Given the description of an element on the screen output the (x, y) to click on. 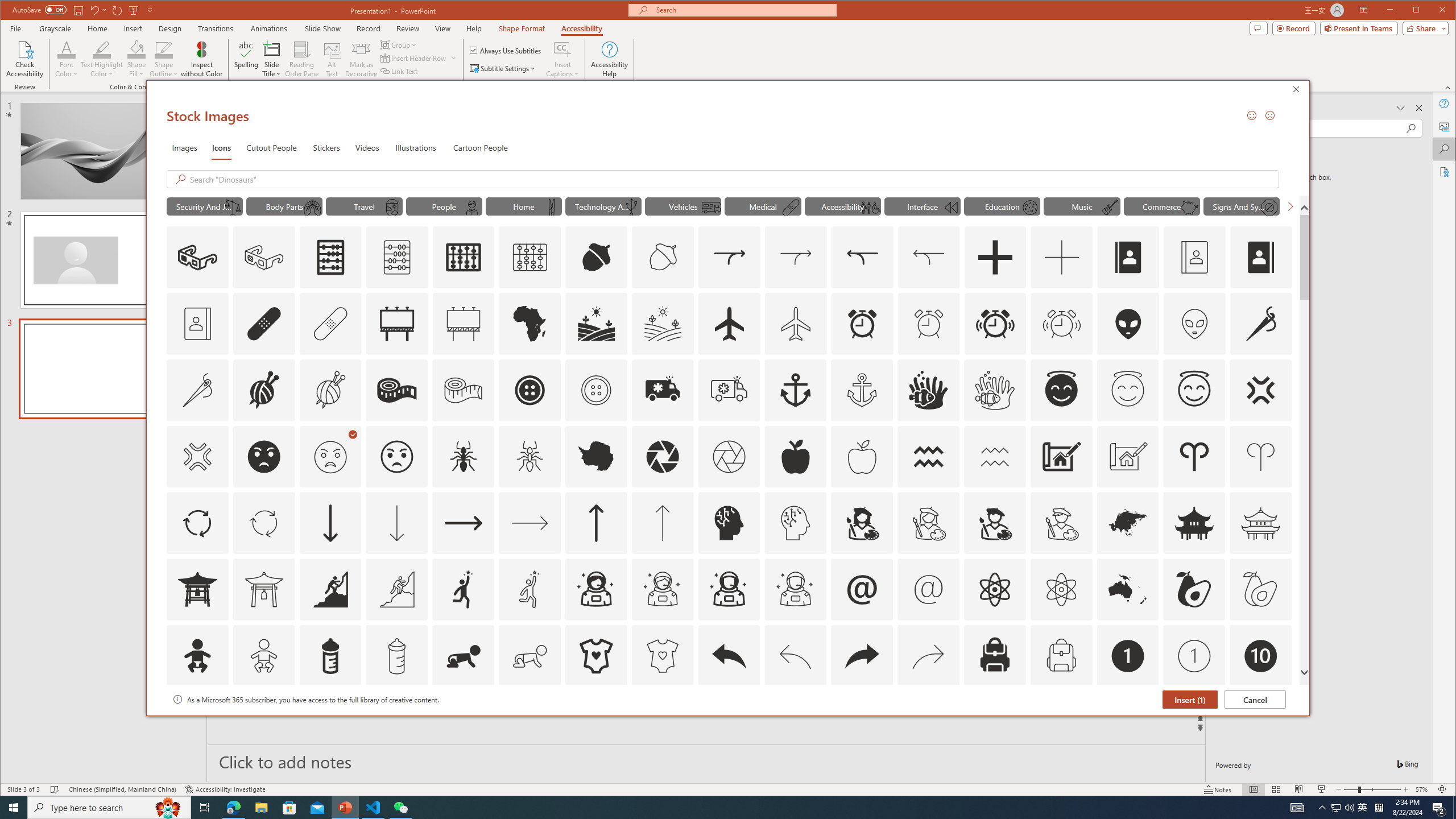
AutomationID: Icons_3dGlasses_M (263, 256)
"Home" Icons. (524, 206)
AutomationID: Icons_AdhesiveBandage_M (330, 323)
AutomationID: Icons_Architecture (1061, 456)
AutomationID: Icons_Backpack_M (1061, 655)
AutomationID: Icons_Avocado_M (1260, 589)
AutomationID: Icons_AlterationsTailoring1 (263, 389)
AutomationID: Icons_Acorn_M (663, 256)
AutomationID: Icons_ArrowCircle_M (263, 522)
Thumbnail (1282, 699)
